Given the description of an element on the screen output the (x, y) to click on. 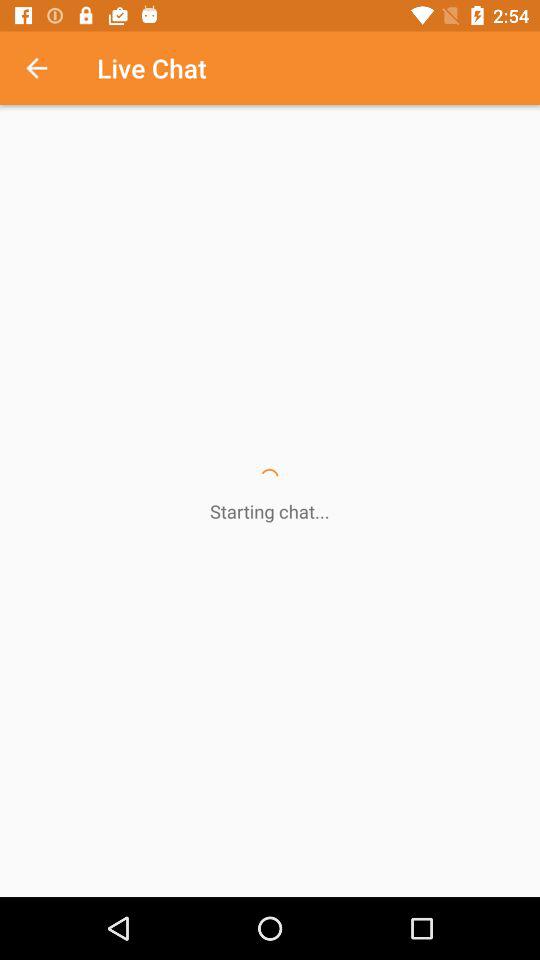
select the icon to the left of the live chat (47, 68)
